Given the description of an element on the screen output the (x, y) to click on. 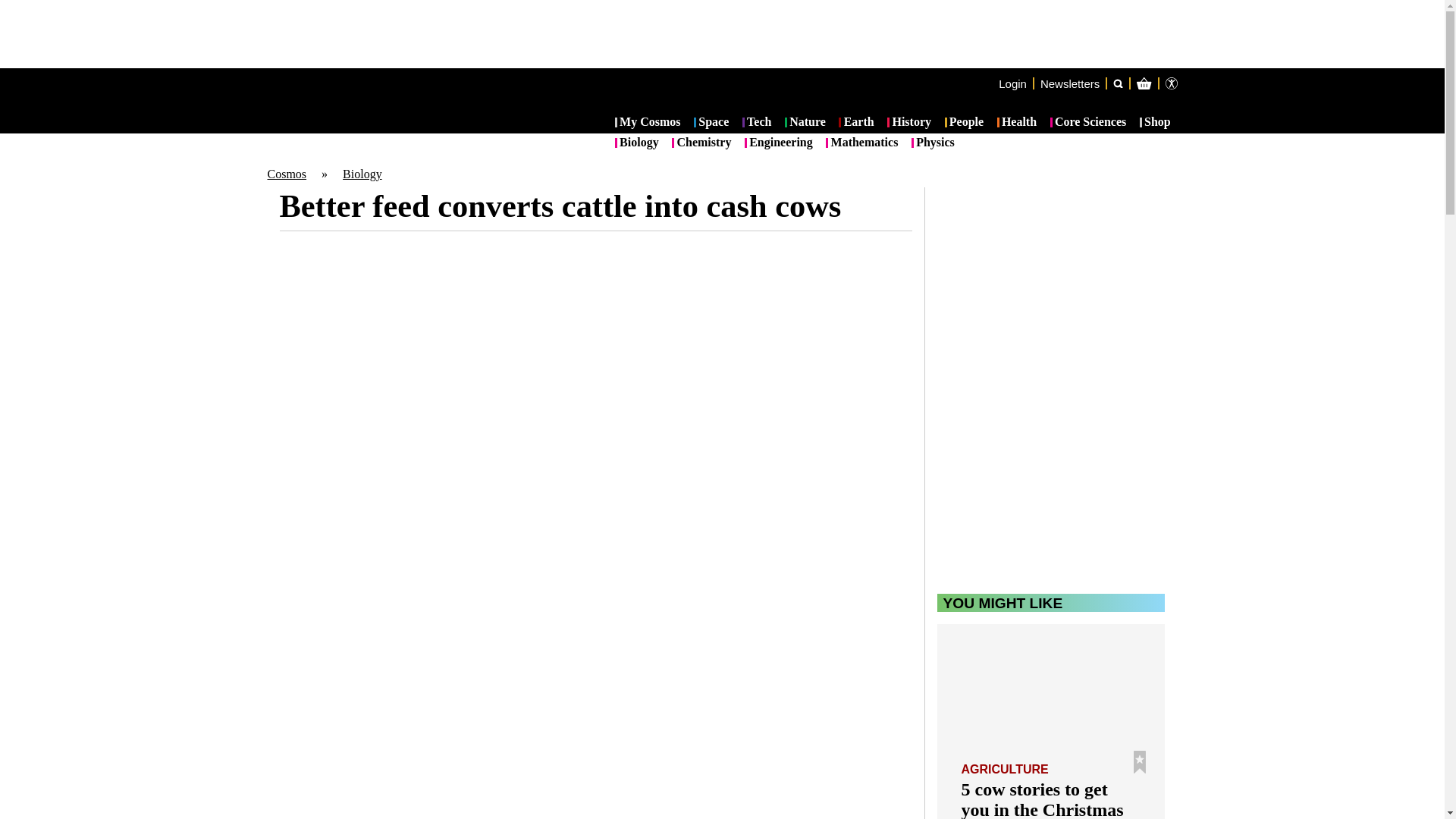
Space (711, 122)
Accessibility Tools (1170, 82)
People (964, 122)
Login (1012, 82)
Biology (636, 143)
Biology (361, 173)
History (908, 122)
Shop (1155, 122)
Chemistry (700, 143)
Nature (804, 122)
